Given the description of an element on the screen output the (x, y) to click on. 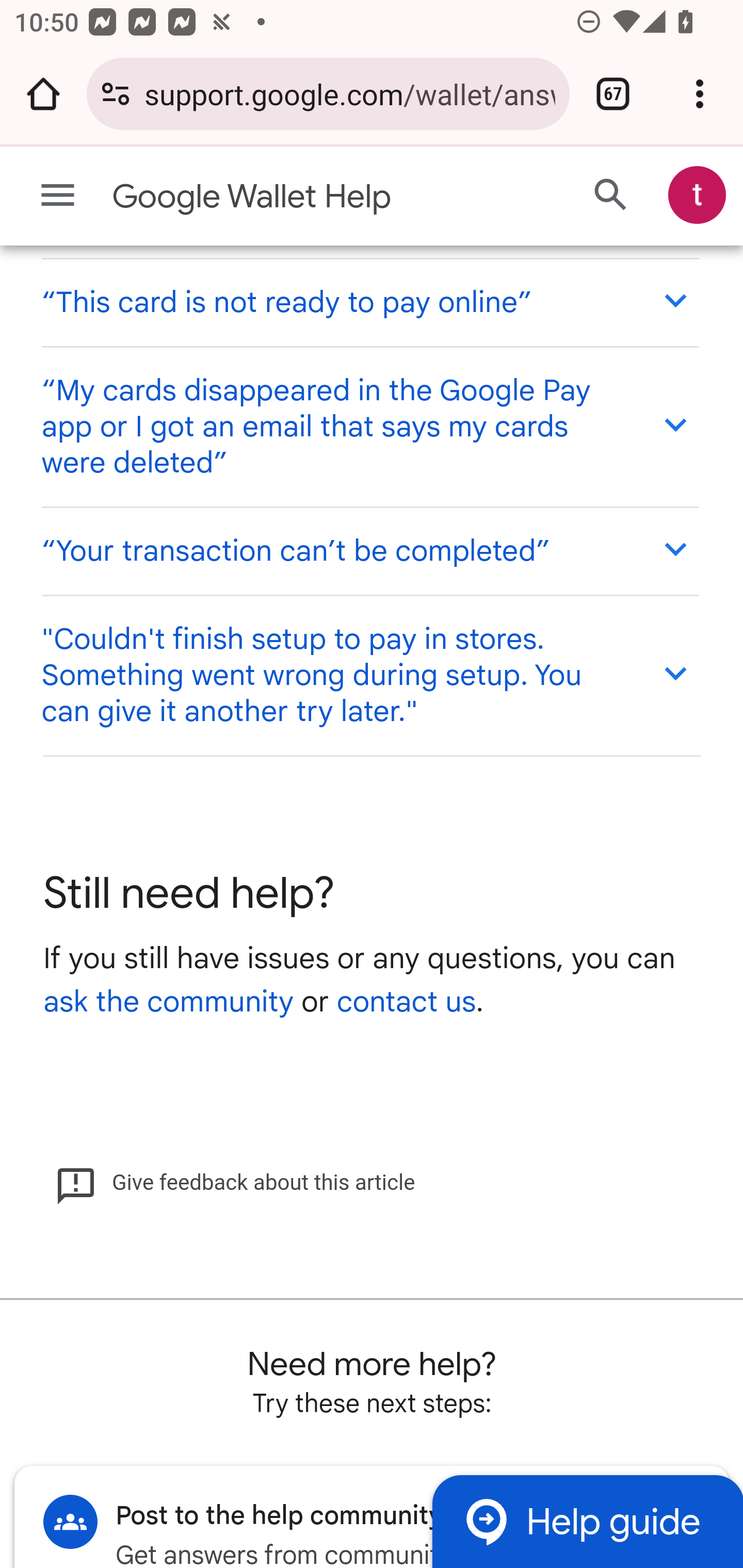
Open the home page (43, 93)
Connection is secure (115, 93)
Switch or close tabs (612, 93)
Customize and control Google Chrome (699, 93)
Main menu (58, 195)
Google Wallet Help (292, 197)
Search Help Center (611, 195)
“This card is not ready to pay online” (369, 302)
“Your transaction can’t be completed” (369, 551)
ask the community (168, 1004)
contact us (406, 1004)
Give feedback about this article (235, 1184)
Help guide (587, 1522)
